Given the description of an element on the screen output the (x, y) to click on. 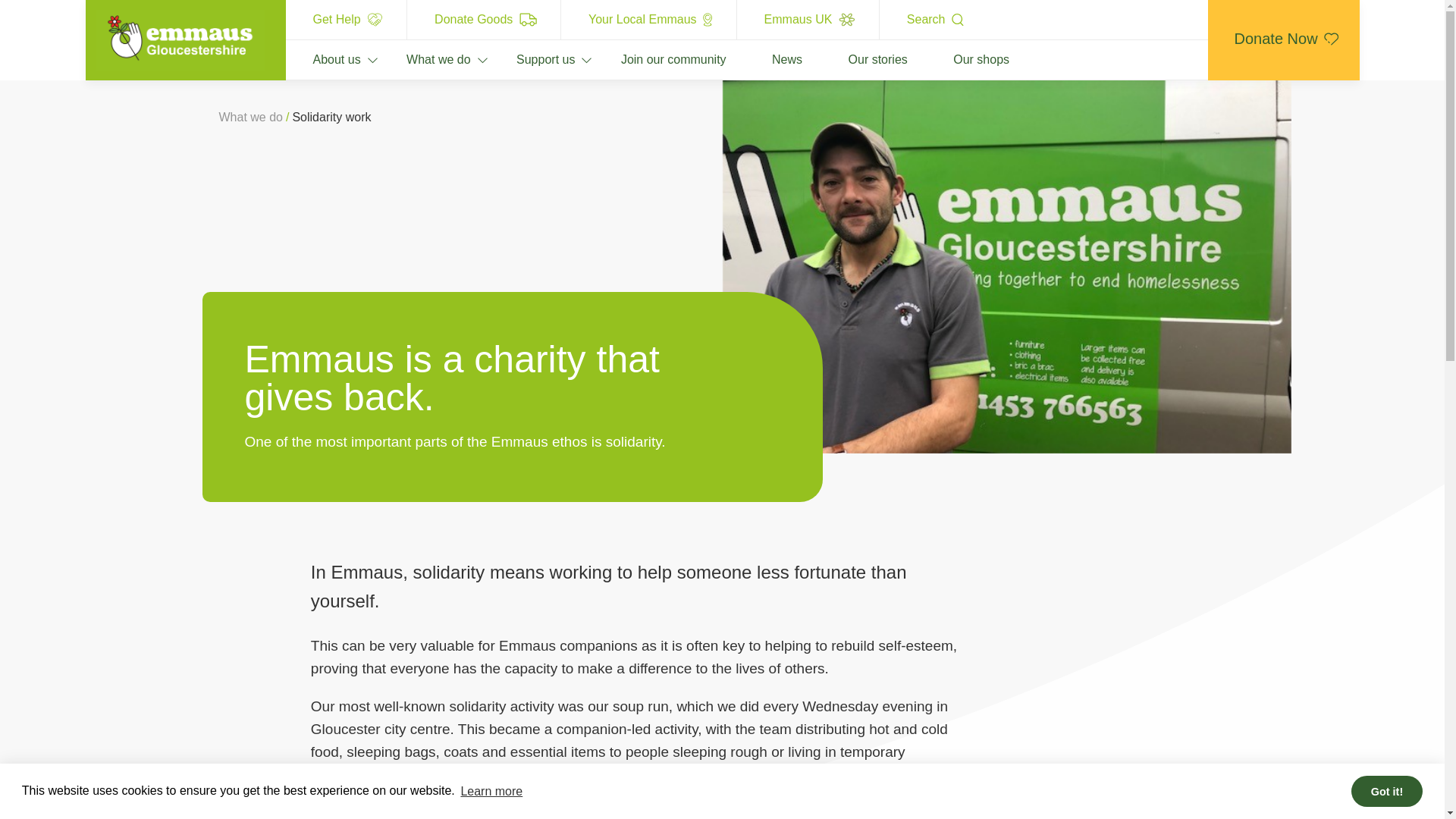
News (771, 59)
Got it! (1386, 790)
What we do (422, 59)
About us (325, 59)
Our stories (863, 59)
Learn more (491, 790)
Donate Goods (483, 19)
Support us (530, 59)
Donate Now (1282, 40)
Join our community (658, 59)
Emmaus UK (807, 19)
Search (933, 19)
Get Help (346, 19)
Our shops (965, 59)
